Given the description of an element on the screen output the (x, y) to click on. 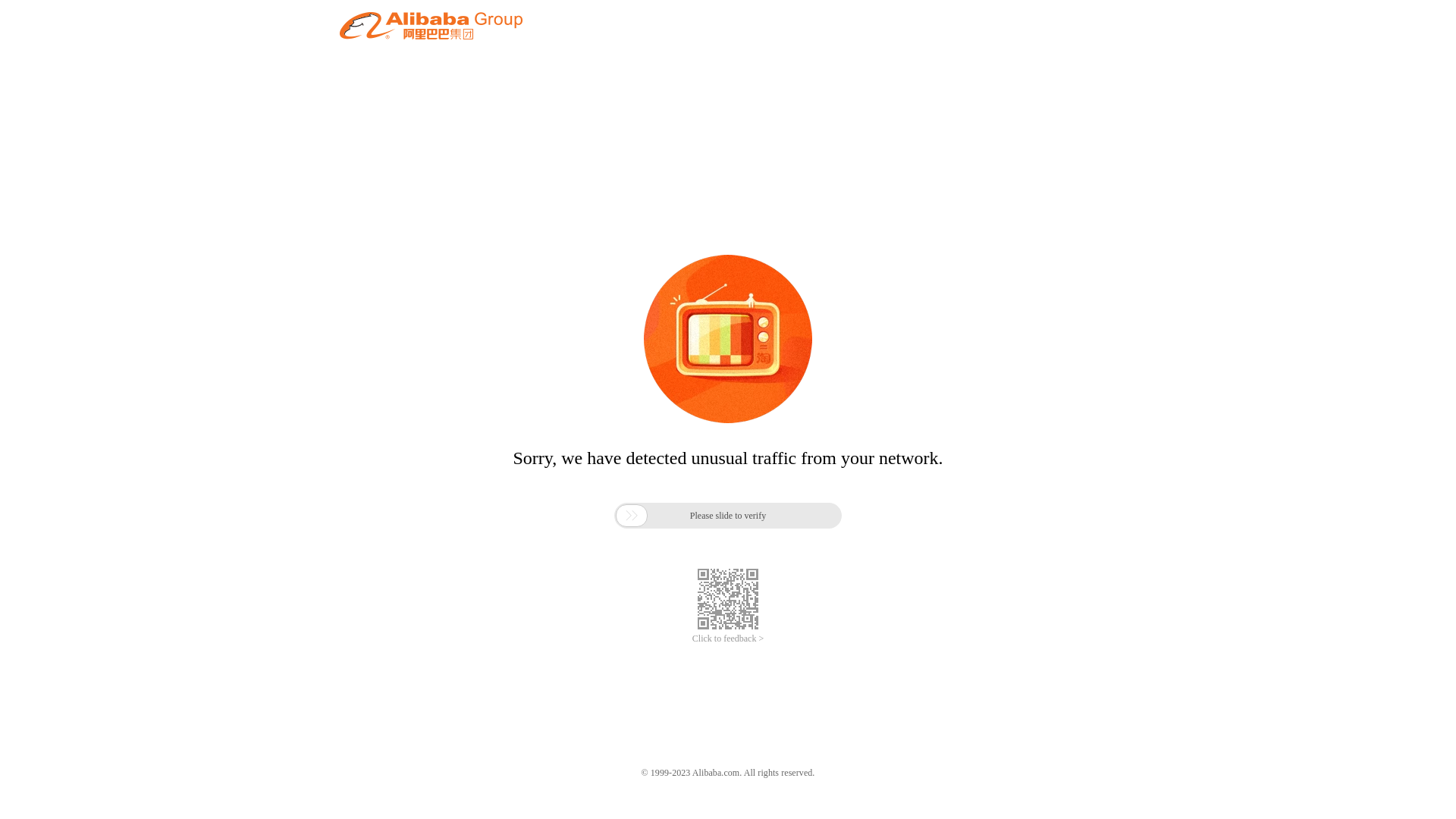
Click to feedback > Element type: text (727, 638)
